Given the description of an element on the screen output the (x, y) to click on. 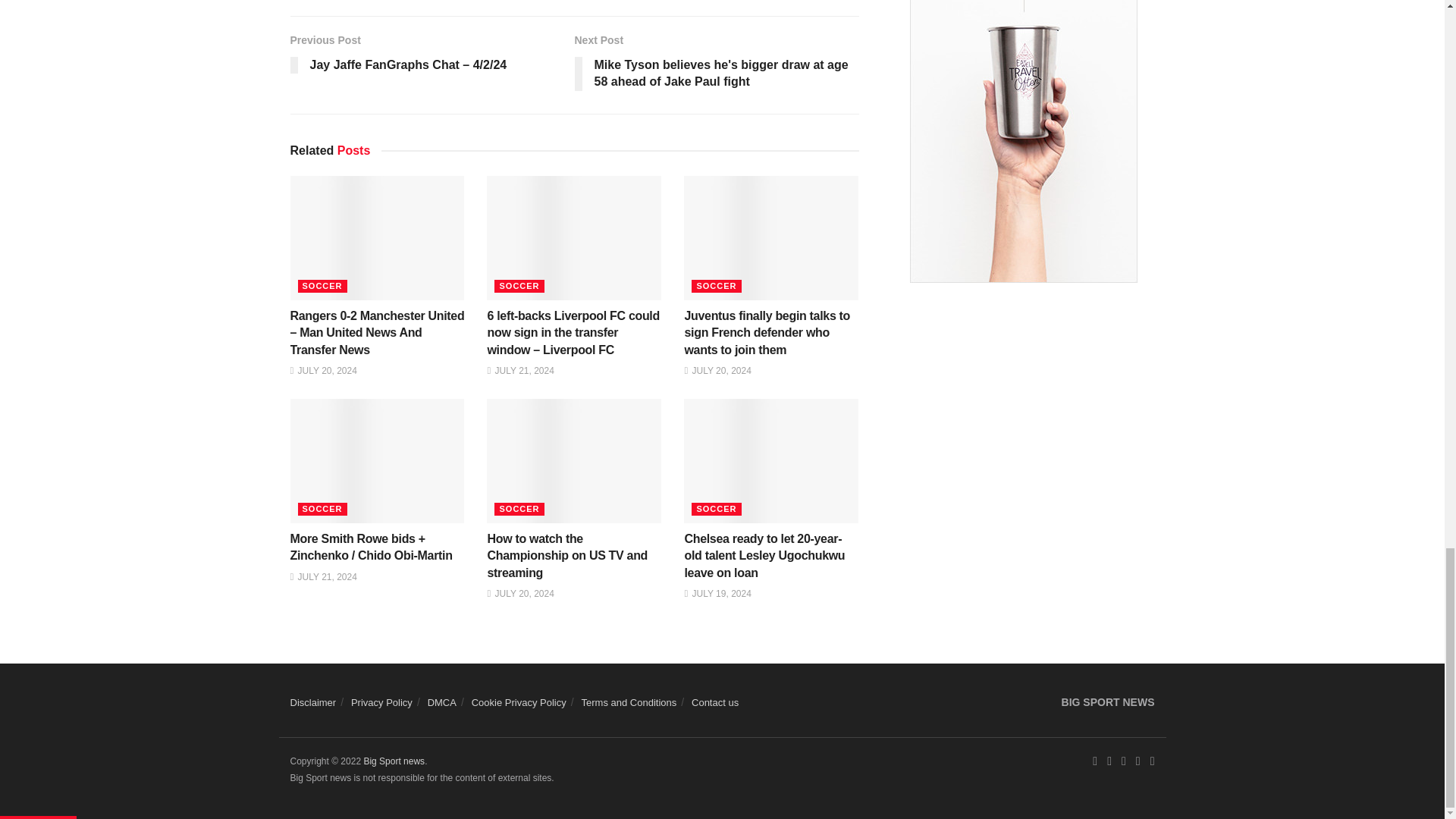
Big Sport news (393, 760)
